Given the description of an element on the screen output the (x, y) to click on. 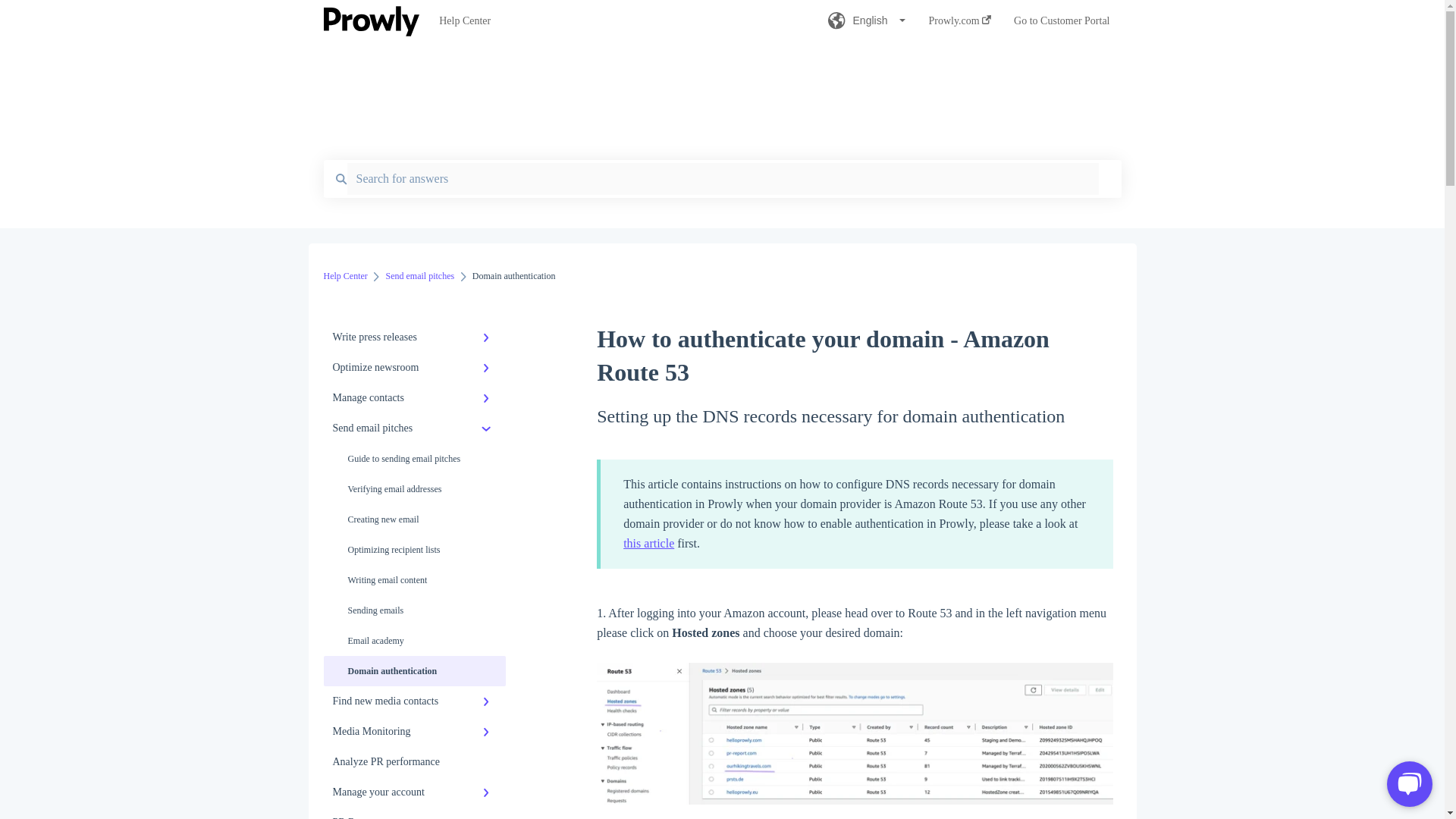
Go to Customer Portal (1061, 25)
Help Center (610, 21)
English (866, 25)
Prowly.com (959, 25)
